Given the description of an element on the screen output the (x, y) to click on. 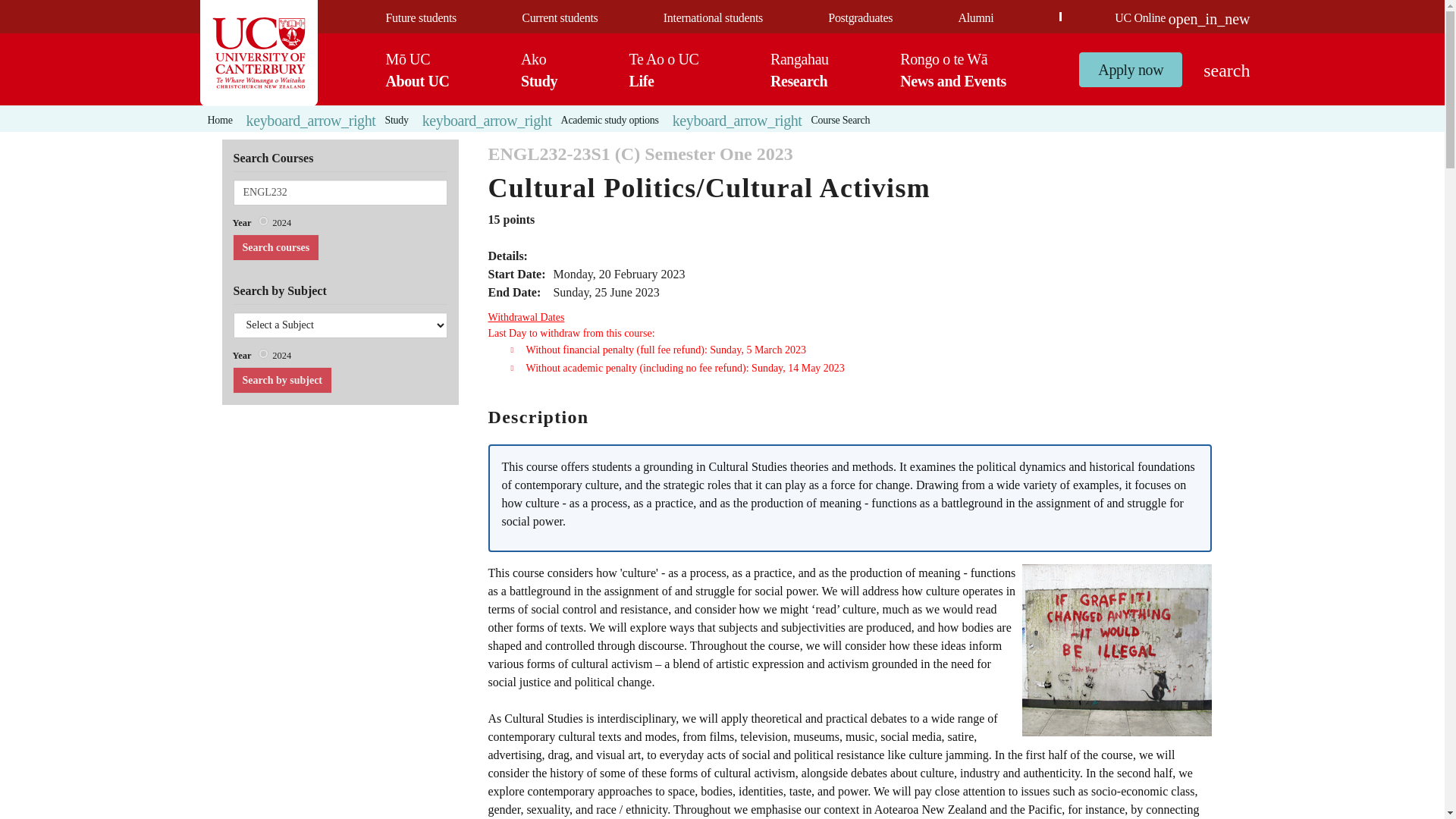
International students (712, 17)
Search courses (274, 247)
Search by subject (281, 379)
2024 (263, 221)
Future students (420, 17)
Search by subject (281, 379)
ENGL232 (339, 192)
Postgraduates (860, 17)
Current students (558, 17)
ENGL232 (339, 192)
2024 (263, 353)
Alumni (539, 69)
Search courses (975, 17)
